Given the description of an element on the screen output the (x, y) to click on. 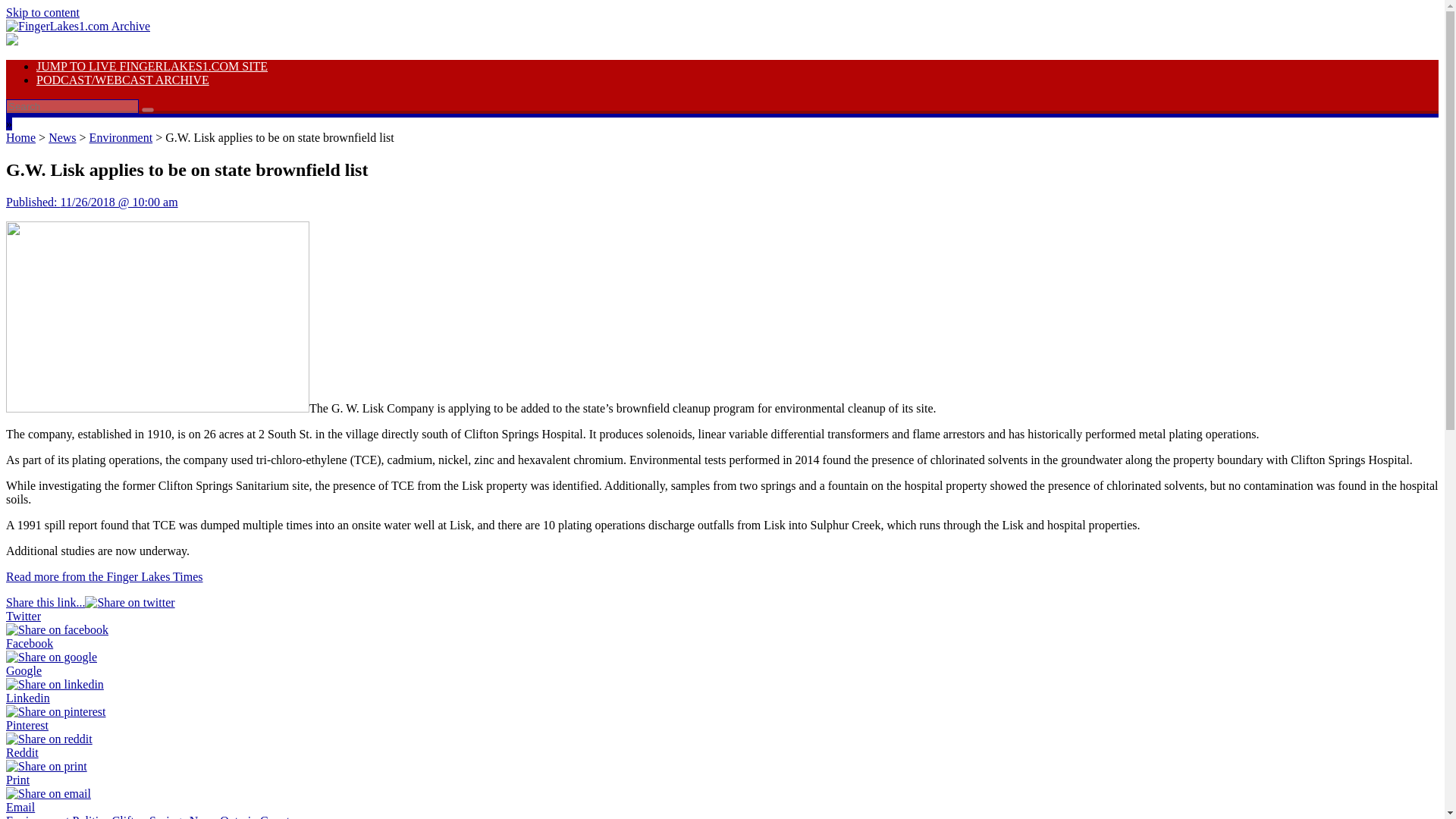
Home (19, 137)
News (61, 137)
Share this link... (44, 602)
Environment (37, 816)
twitter (129, 602)
Clifton Springs (149, 816)
reddit (49, 739)
facebook (56, 630)
Politics (90, 816)
google (51, 657)
Skip to content (42, 11)
link (42, 11)
JUMP TO LIVE FINGERLAKES1.COM SITE (151, 65)
linkedin (54, 684)
Environment (120, 137)
